Given the description of an element on the screen output the (x, y) to click on. 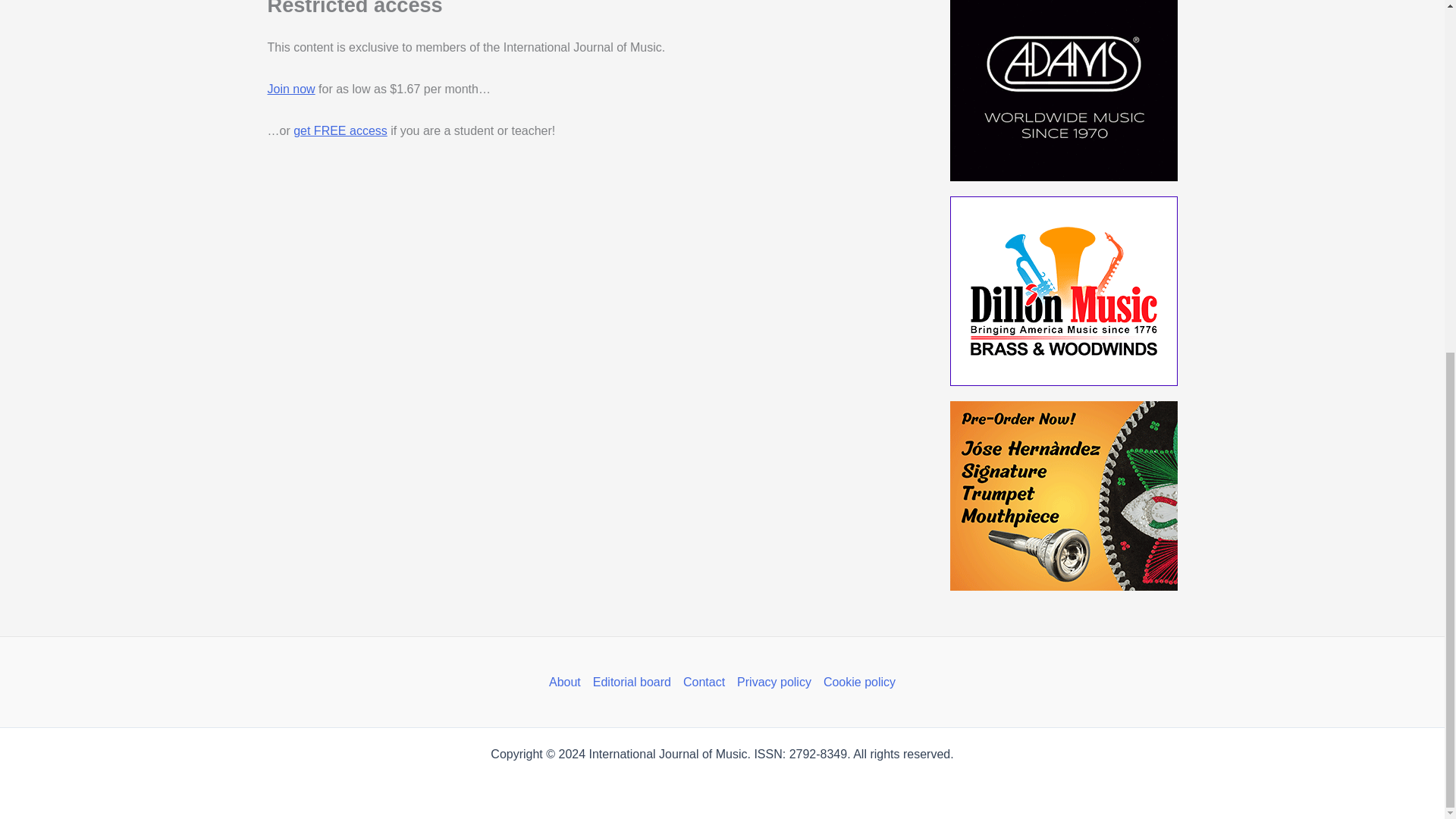
Legends-Brass-Jose-Hernandez (1062, 495)
Adams-Together-in-Music (1062, 90)
Dillon-Music-Trumpet (1062, 290)
